Given the description of an element on the screen output the (x, y) to click on. 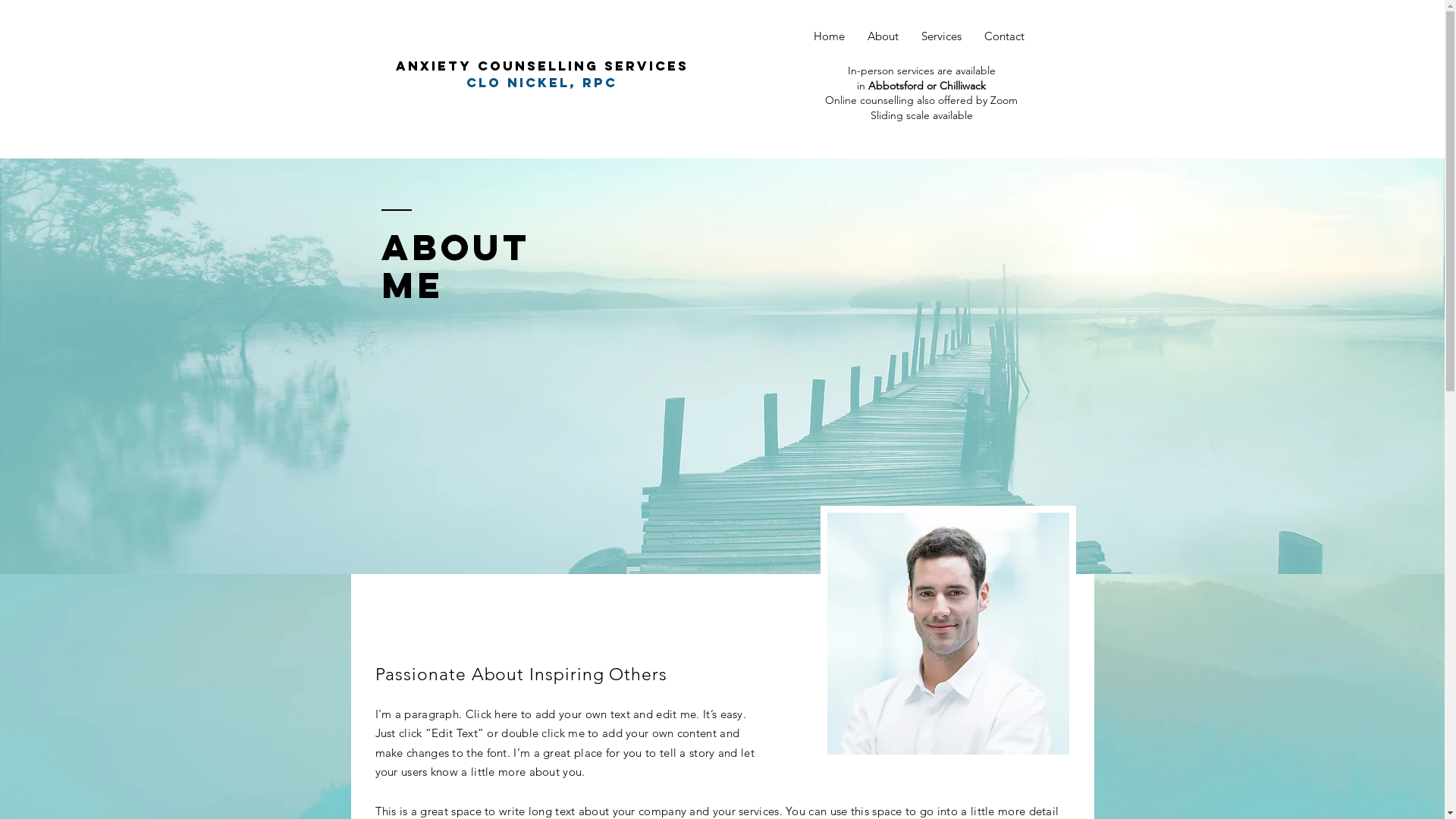
Contact Element type: text (1003, 36)
Home Element type: text (829, 36)
clo Nickel, rpc Element type: text (541, 82)
About Element type: text (882, 36)
Services Element type: text (941, 36)
